Given the description of an element on the screen output the (x, y) to click on. 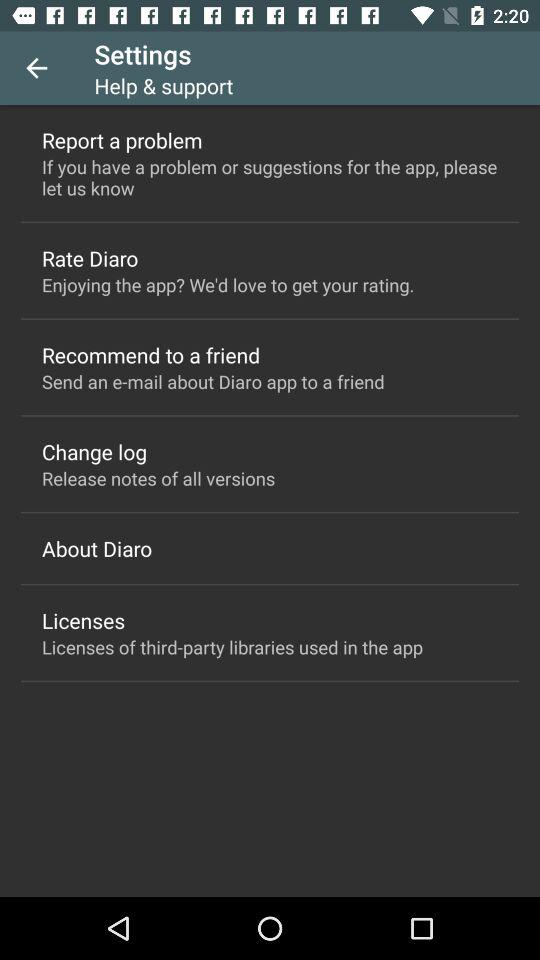
click the item above change log (213, 381)
